Given the description of an element on the screen output the (x, y) to click on. 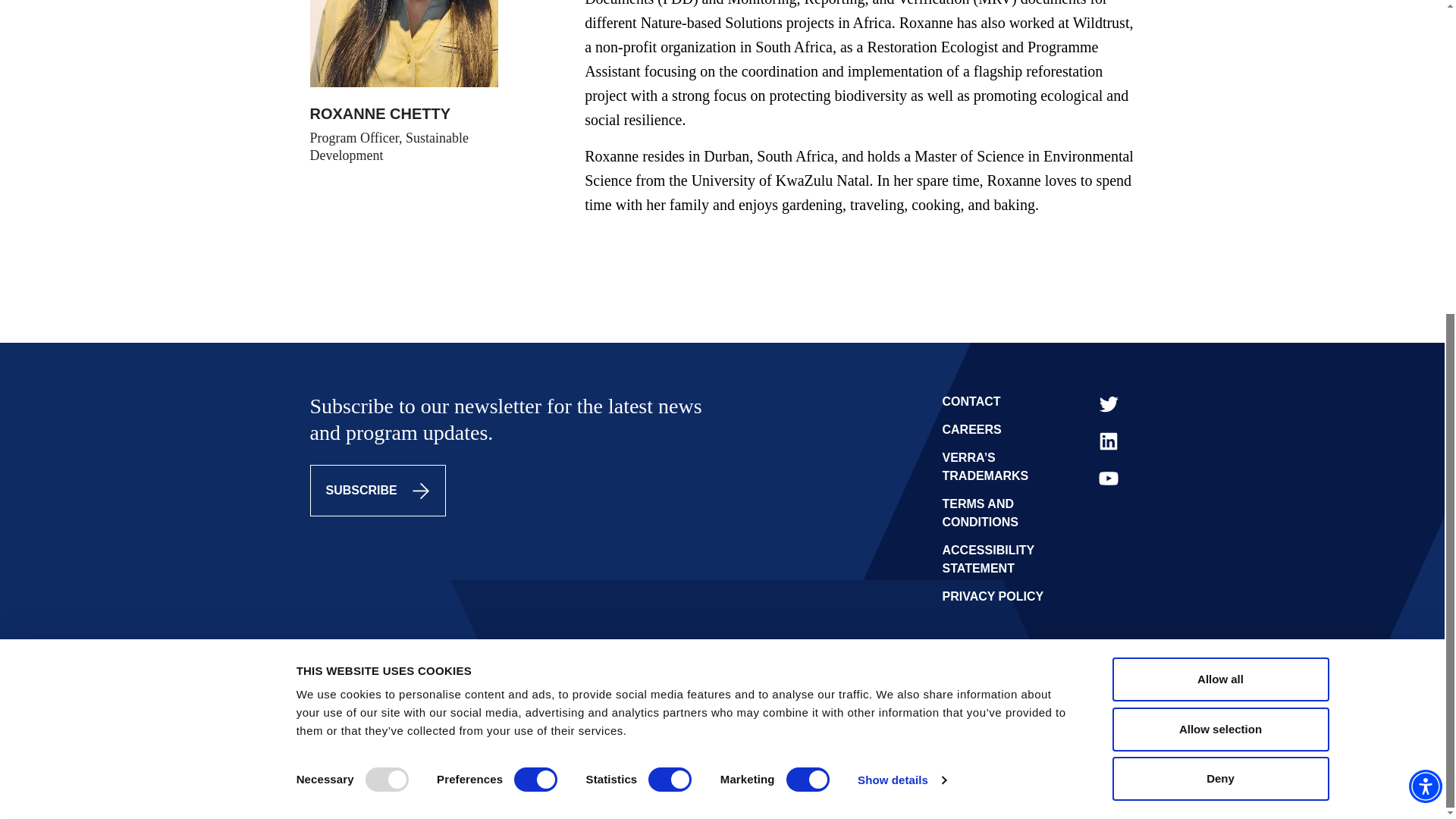
Accessibility Menu (1425, 284)
Show details (900, 277)
